Given the description of an element on the screen output the (x, y) to click on. 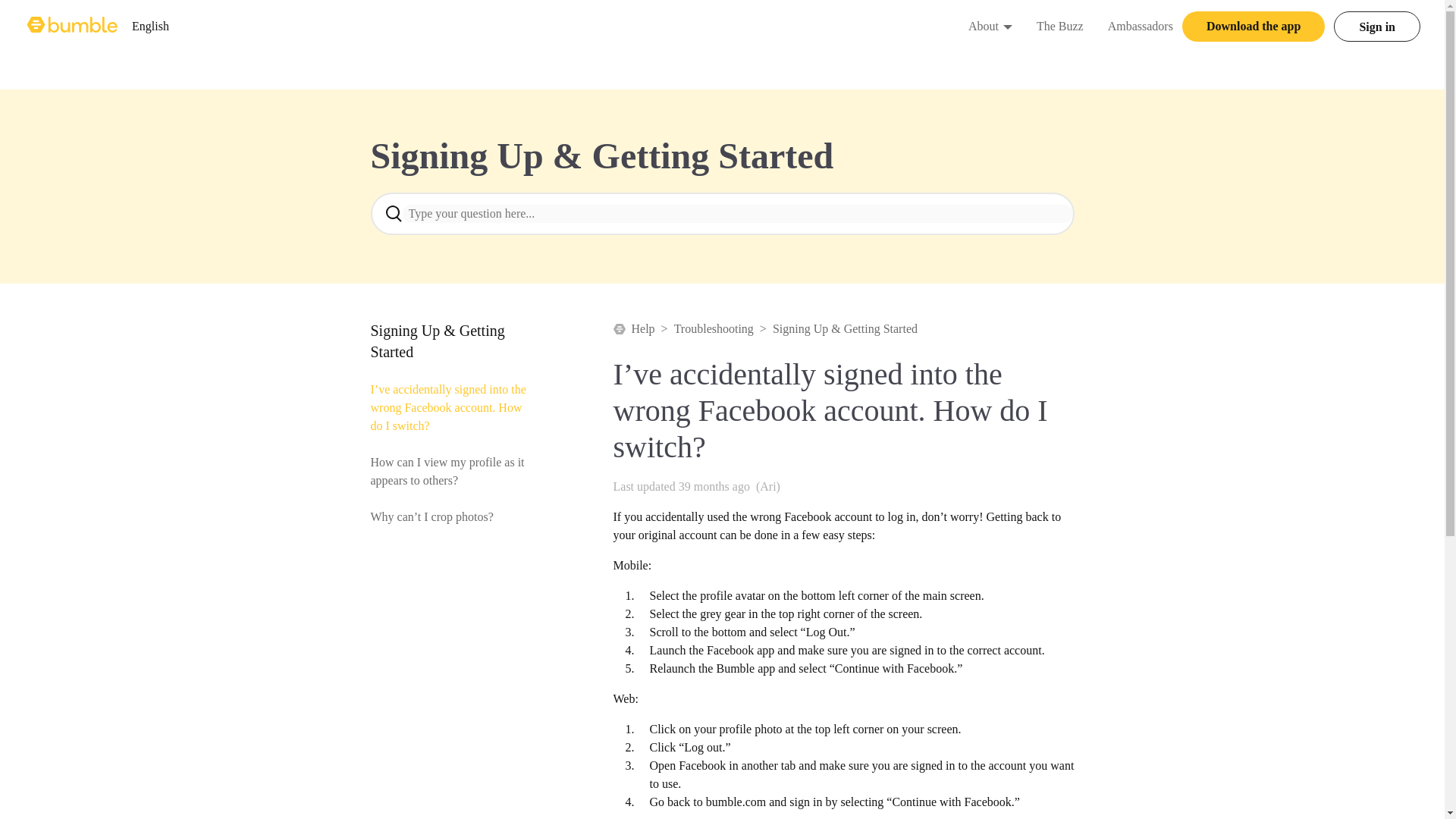
Expand About (1007, 26)
Ambassadors (1140, 26)
Download the app (1253, 26)
Bumble homepage (72, 25)
The Buzz (1059, 26)
About (150, 26)
